Given the description of an element on the screen output the (x, y) to click on. 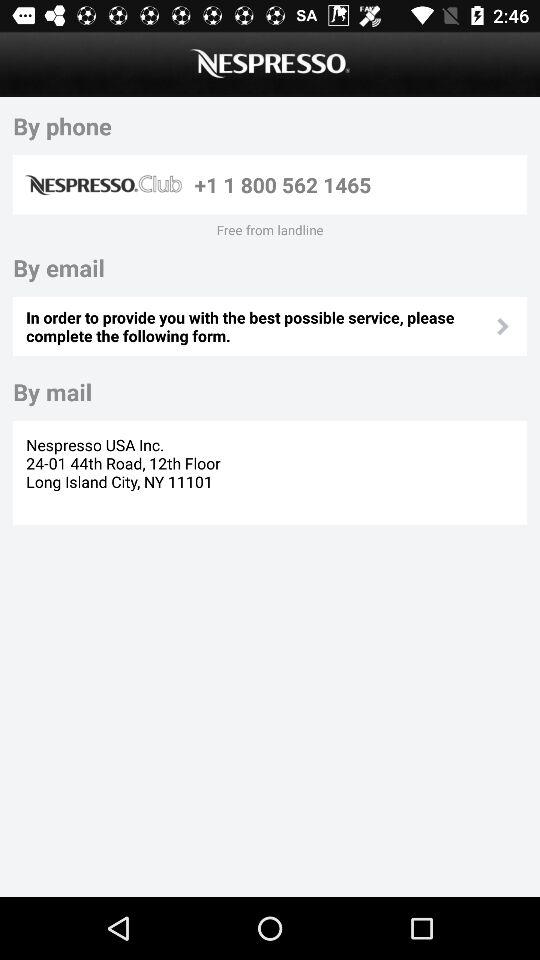
launch nespresso usa inc (125, 472)
